Given the description of an element on the screen output the (x, y) to click on. 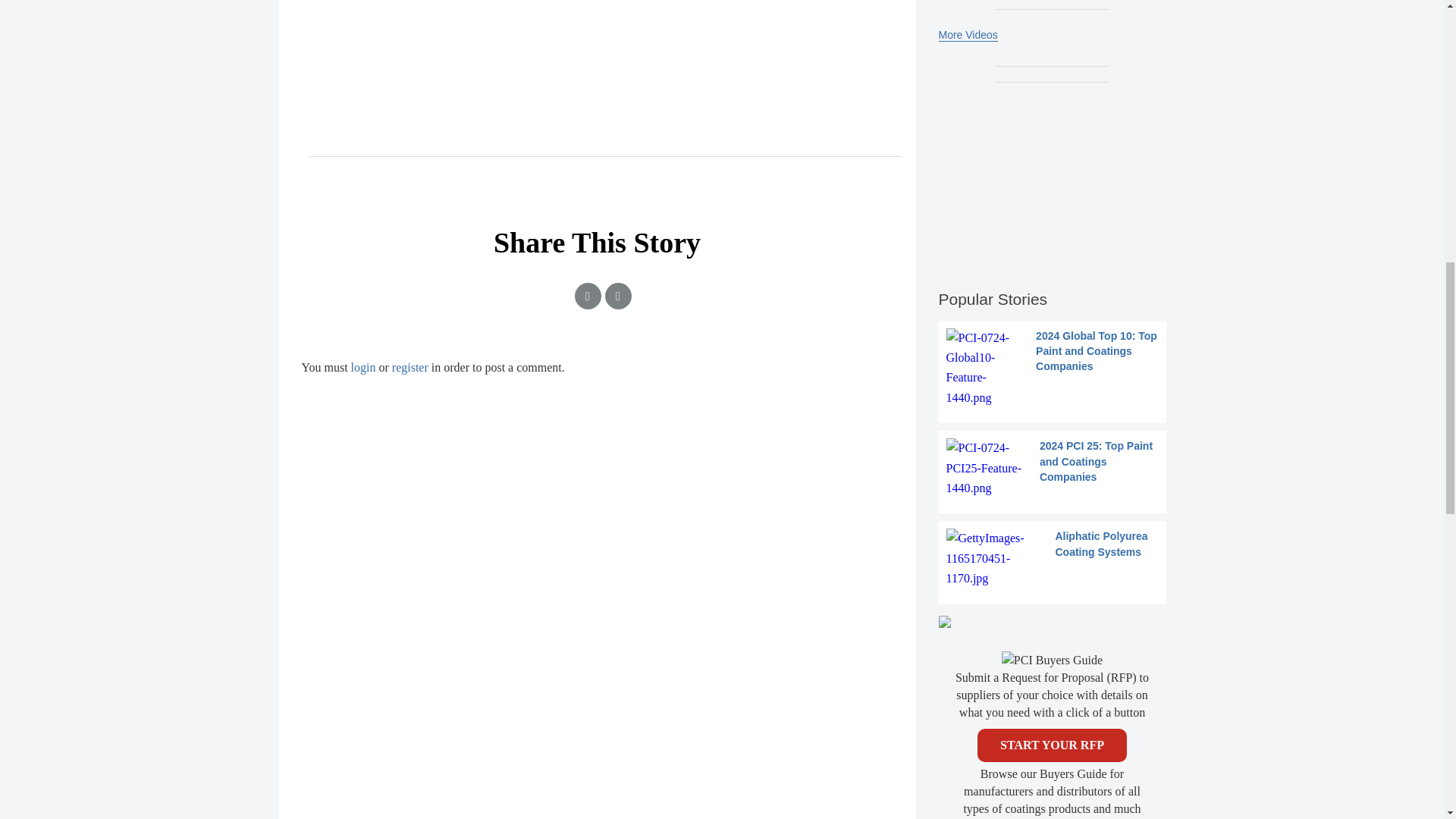
2024 PCI 25: Top Paint and Coatings Companies (1052, 467)
Aliphatic Polyurea Coating Systems (1052, 558)
2024 Global Top 10: Top Paint and Coatings Companies (1052, 368)
